Given the description of an element on the screen output the (x, y) to click on. 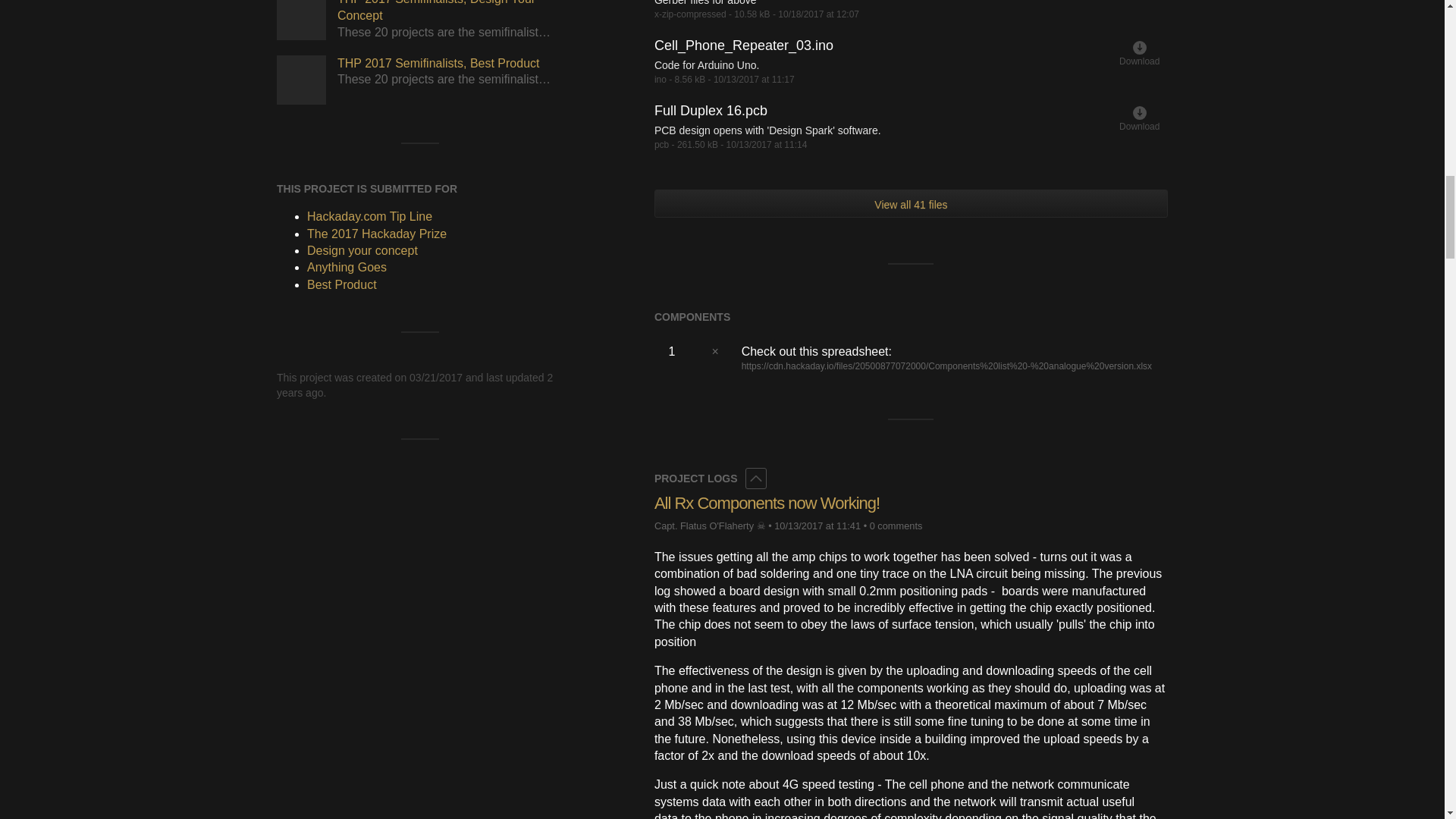
THP 2017 Semifinalists, Best Product (301, 79)
THP 2017 Semifinalists, Design Your Concept (301, 20)
7 years ago (817, 525)
